Given the description of an element on the screen output the (x, y) to click on. 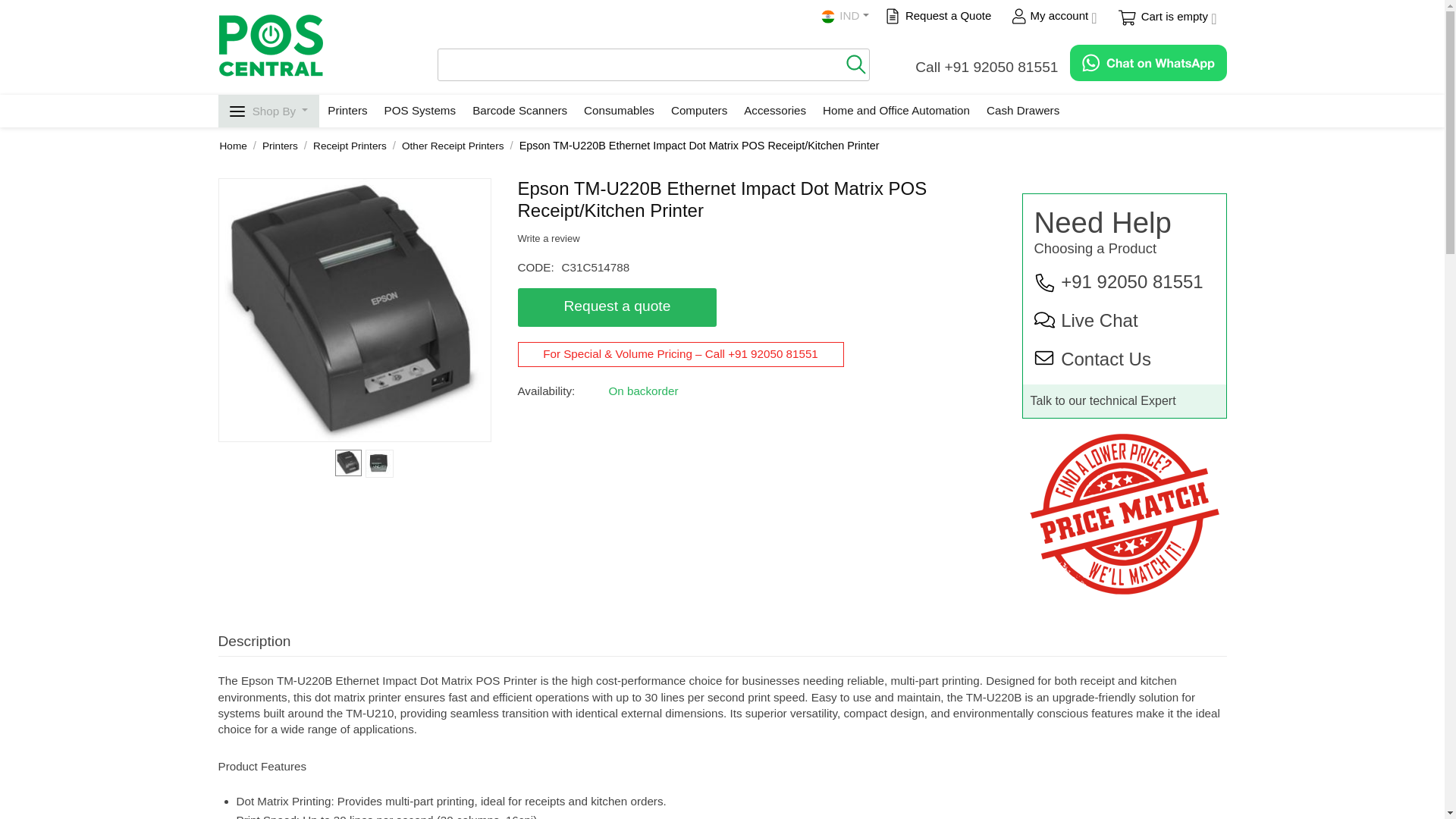
Cart is empty (1166, 16)
IND (844, 15)
POS Central India (830, 17)
Request a Quote (938, 16)
U220B (353, 310)
 My account (1053, 16)
Search products (653, 64)
Search (855, 61)
POS Central India (271, 43)
POS Central India (271, 45)
